Given the description of an element on the screen output the (x, y) to click on. 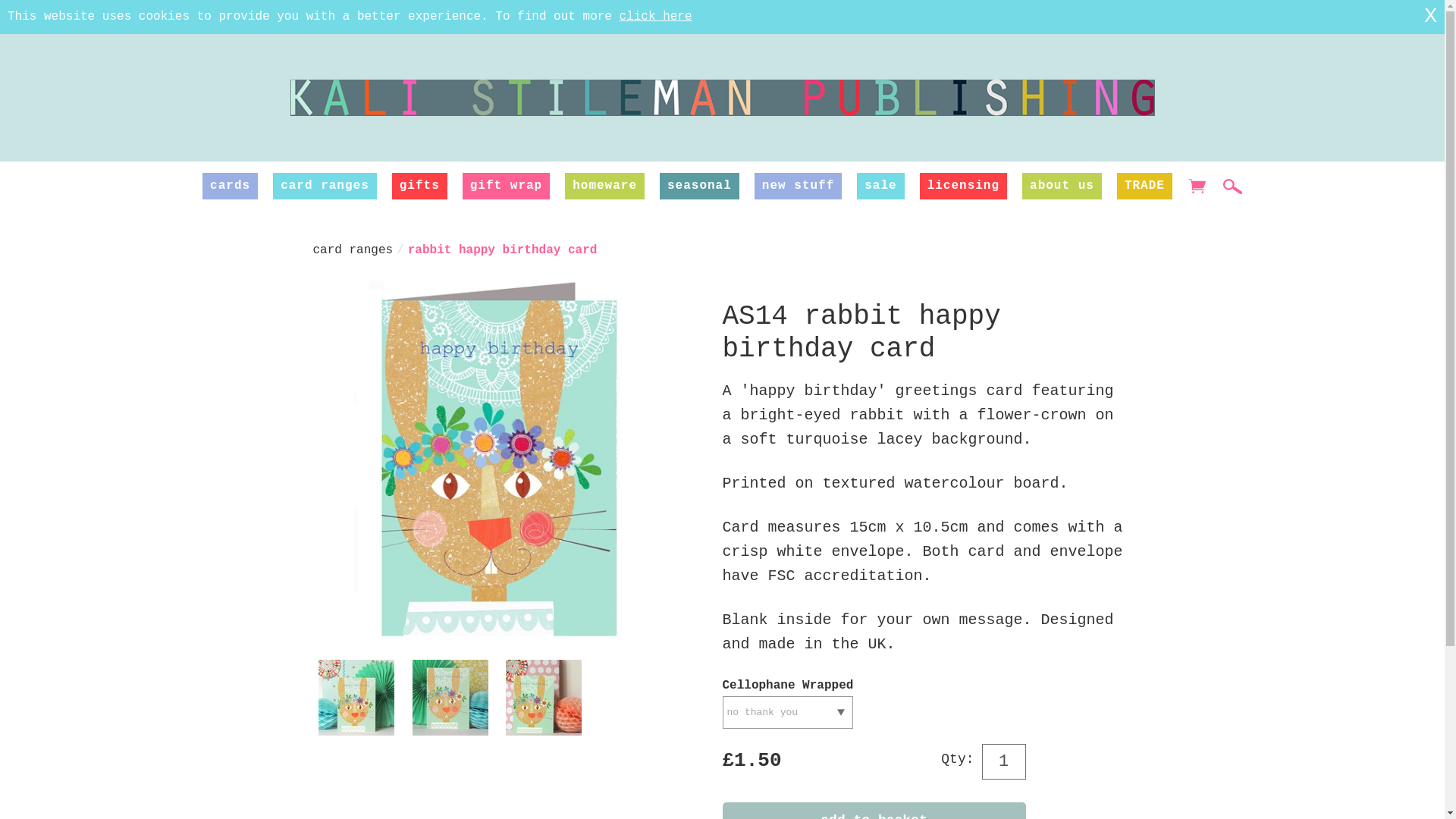
card ranges (325, 185)
1 (1003, 760)
cards (229, 185)
gifts (418, 185)
click here (656, 16)
Cards (229, 185)
Card Ranges (325, 185)
